Given the description of an element on the screen output the (x, y) to click on. 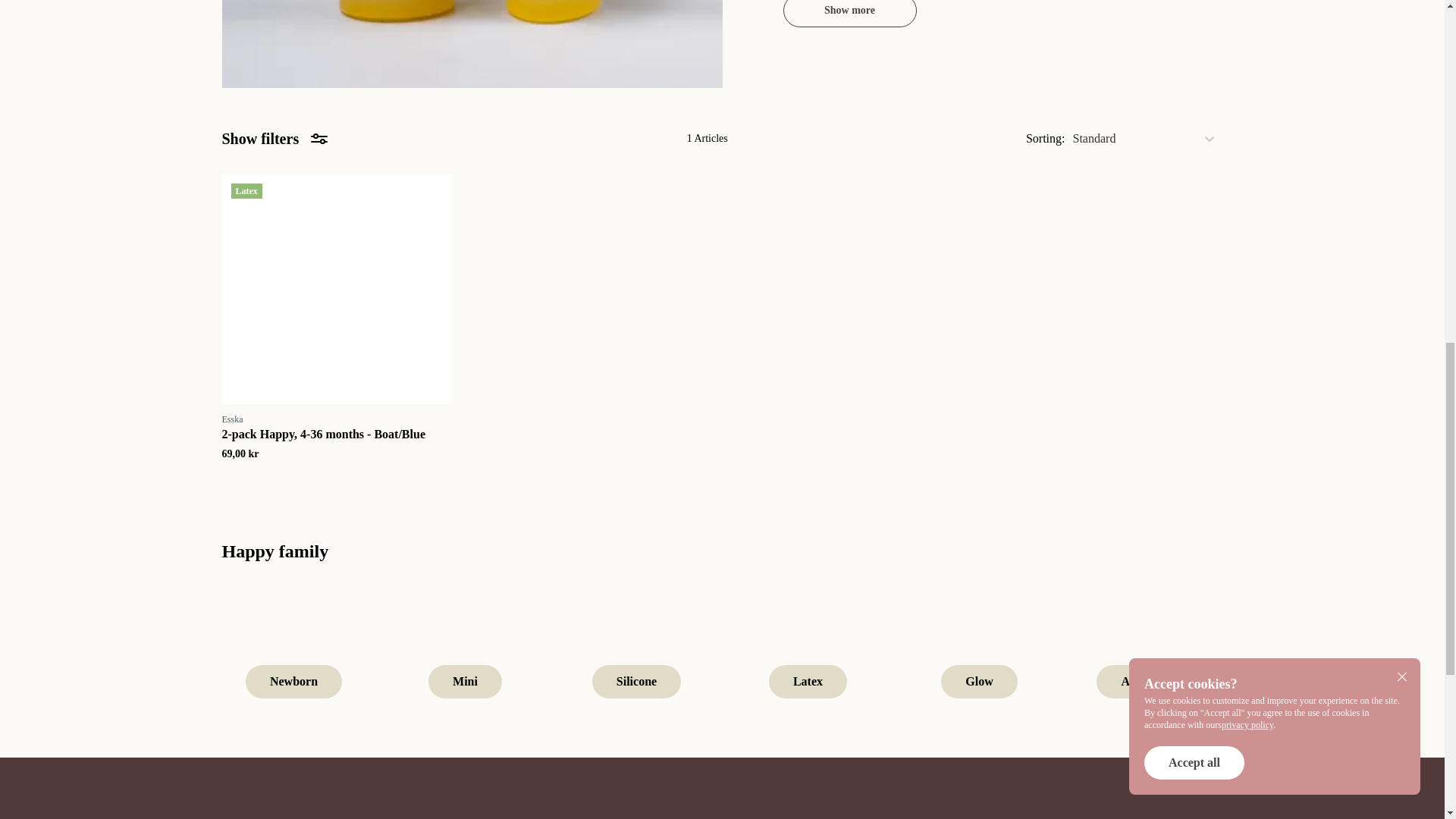
Latex (807, 648)
Mini (465, 648)
Glow (979, 648)
Newborn (293, 648)
Silicone (635, 648)
Accessories (1150, 648)
